Given the description of an element on the screen output the (x, y) to click on. 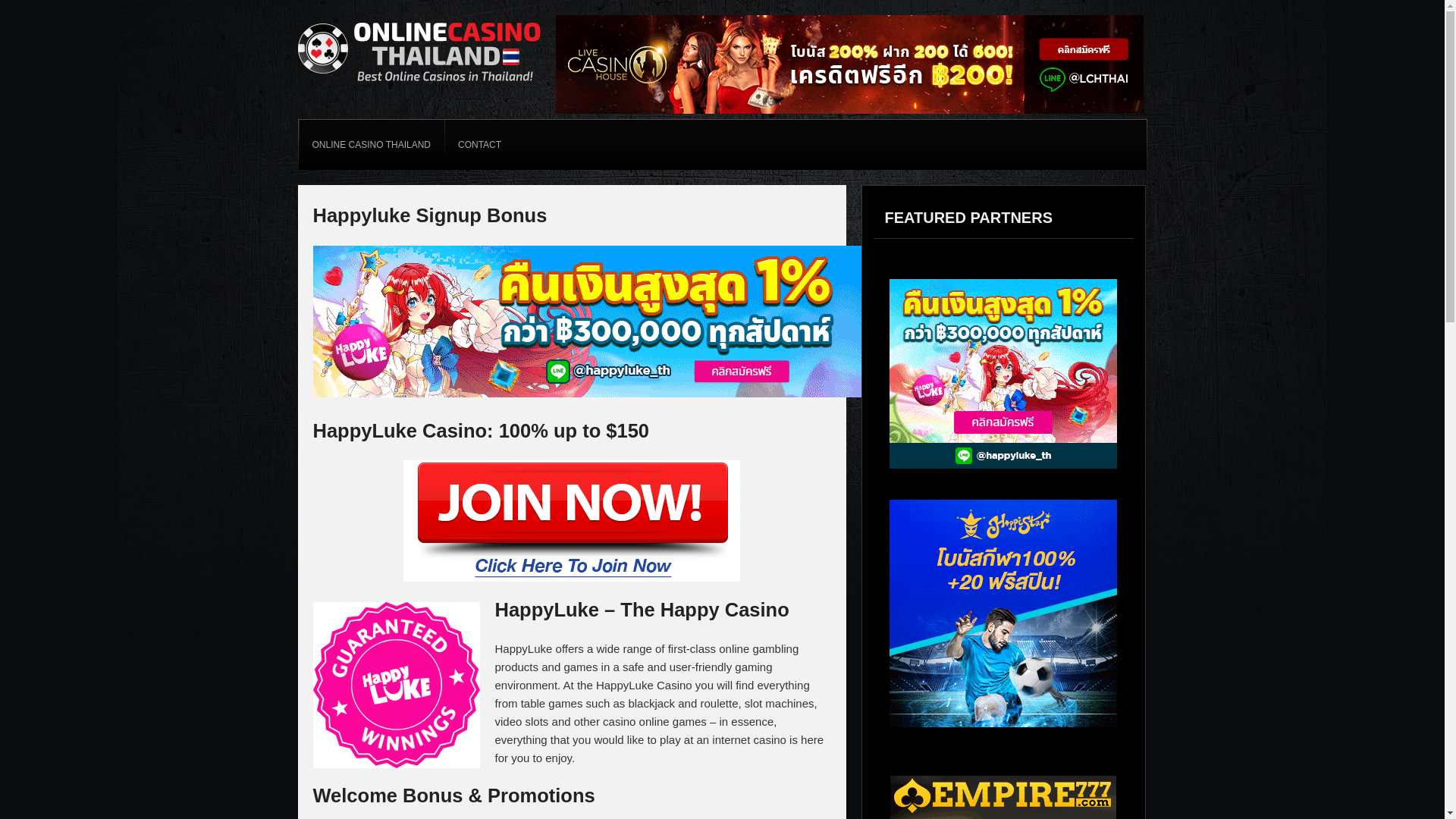
Online Casino Thailand (418, 84)
CONTACT (479, 144)
ONLINE CASINO THAILAND (371, 144)
